Given the description of an element on the screen output the (x, y) to click on. 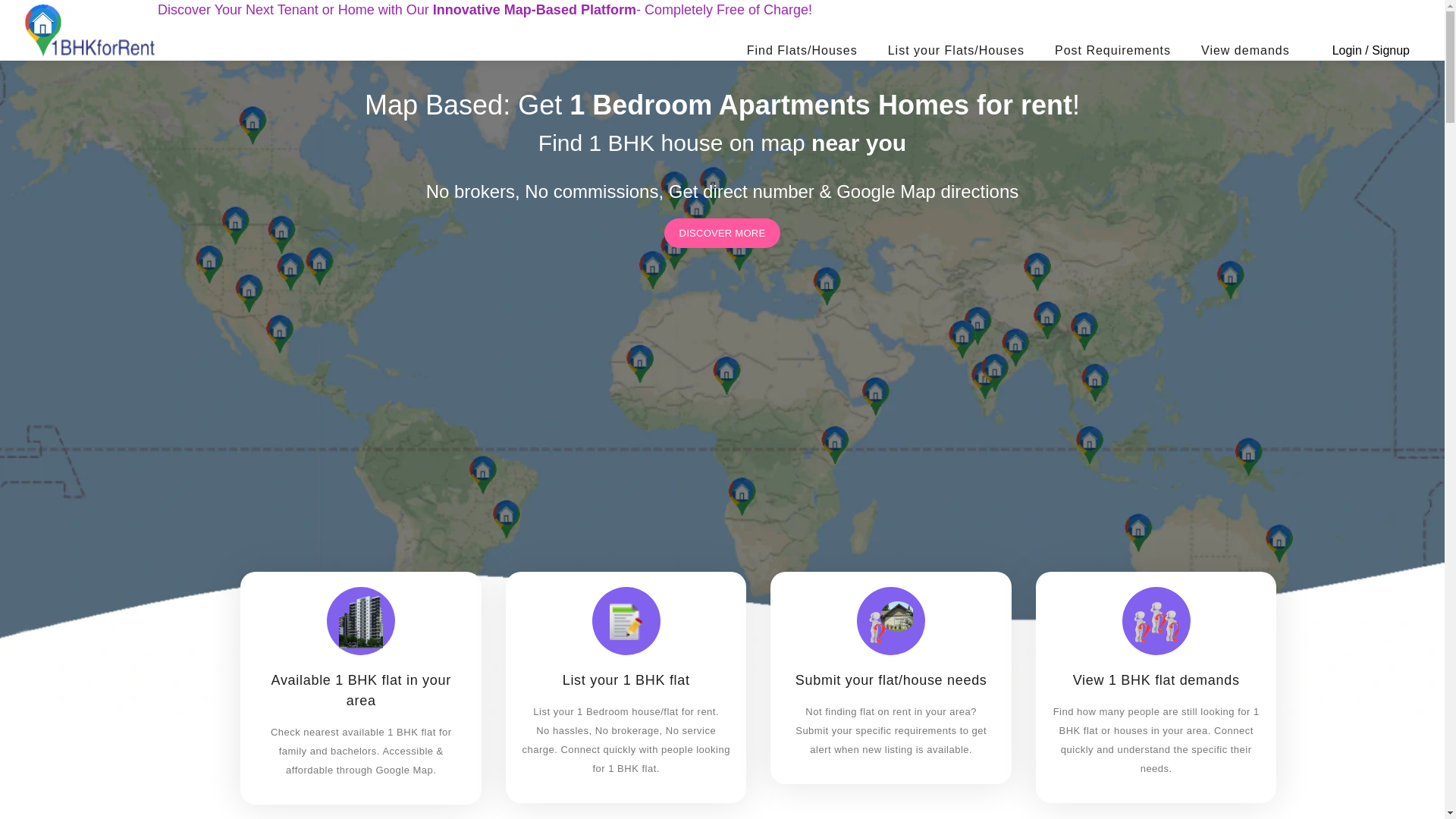
Login / Signup Element type: text (1370, 50)
DISCOVER MORE Element type: text (722, 232)
Post Requirements Element type: text (1112, 50)
Find Flats/Houses Element type: text (801, 50)
View demands Element type: text (1245, 50)
List your Flats/Houses Element type: text (956, 50)
